Given the description of an element on the screen output the (x, y) to click on. 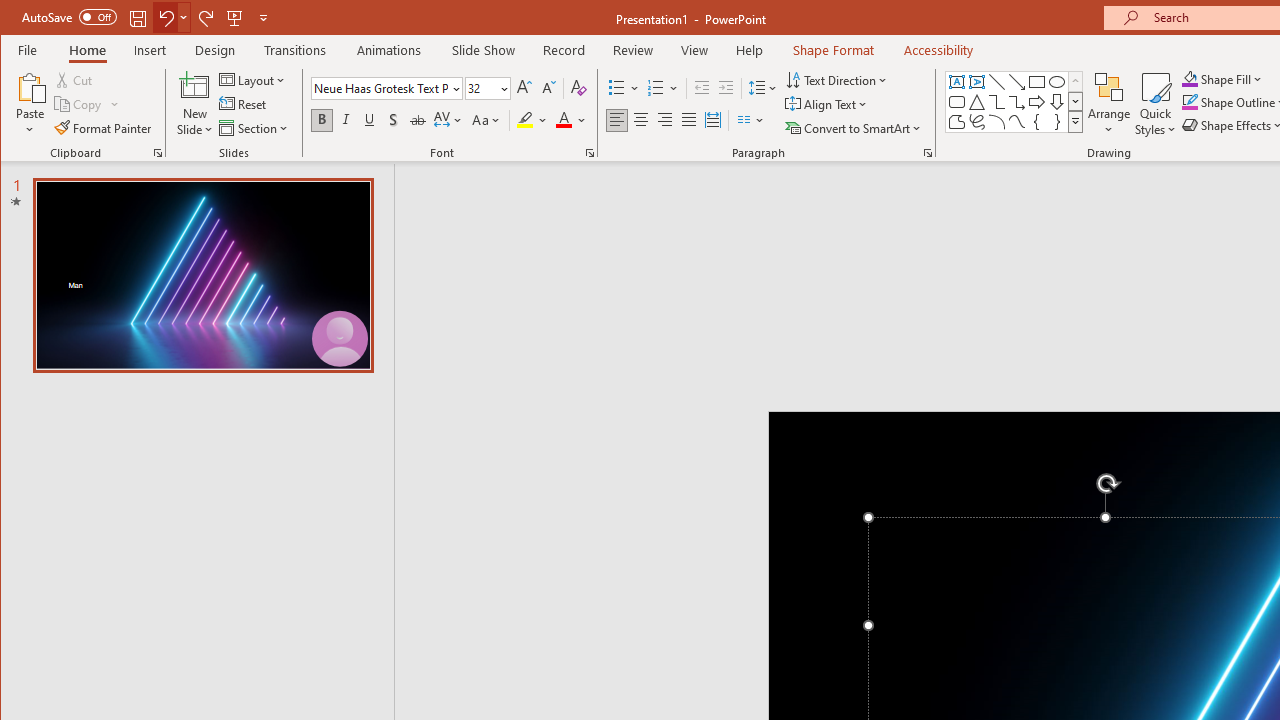
Isosceles Triangle (976, 102)
Bullets (616, 88)
Copy (79, 103)
Paste (29, 86)
Text Box (956, 82)
Text Highlight Color Yellow (525, 119)
Font Size (480, 88)
Line (996, 82)
Font Color Red (563, 119)
Layout (253, 80)
Align Left (616, 119)
